Given the description of an element on the screen output the (x, y) to click on. 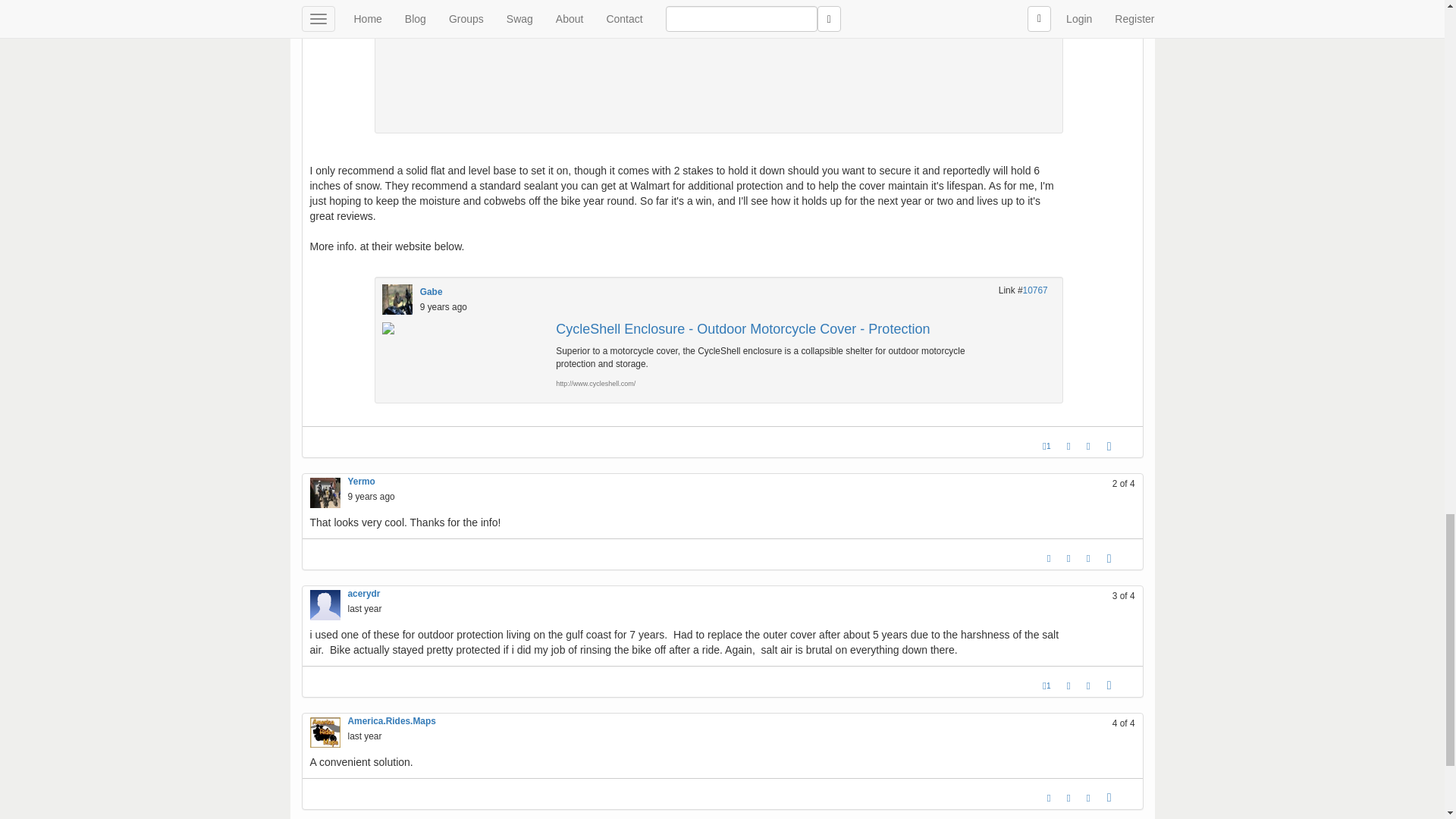
Share (1109, 558)
Where this has been mentioned (1088, 685)
Tag (1068, 445)
Share (1109, 445)
Share (1109, 685)
Where this has been mentioned (1088, 558)
Share (1109, 797)
Where this has been mentioned (1088, 445)
Tag (1068, 685)
Tag (1068, 558)
